Given the description of an element on the screen output the (x, y) to click on. 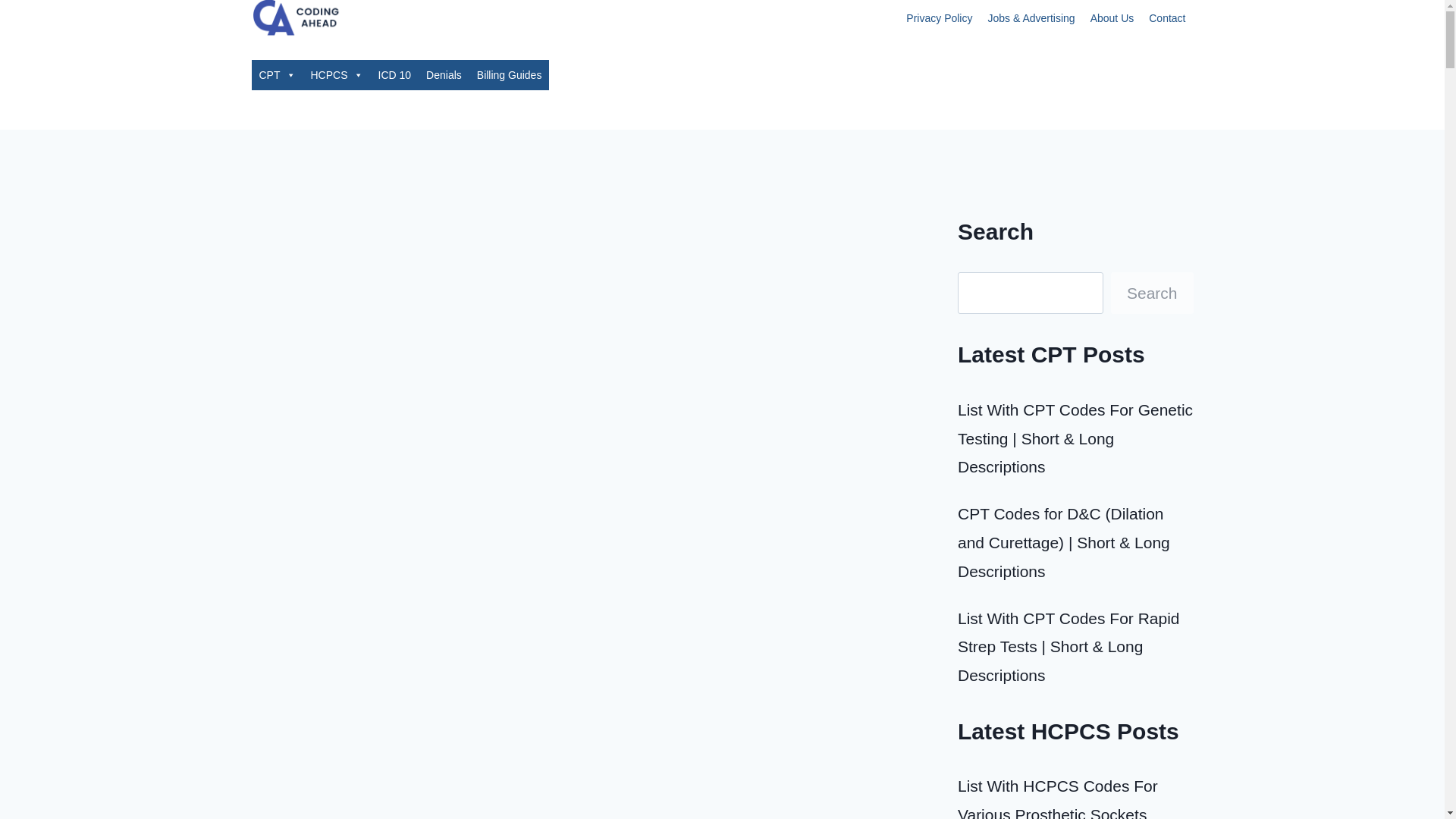
Contact (1166, 18)
HCPCS (336, 74)
Privacy Policy (938, 18)
Billing Guides (509, 74)
About Us (1112, 18)
CPT (276, 74)
Denials (443, 74)
ICD 10 (395, 74)
